Given the description of an element on the screen output the (x, y) to click on. 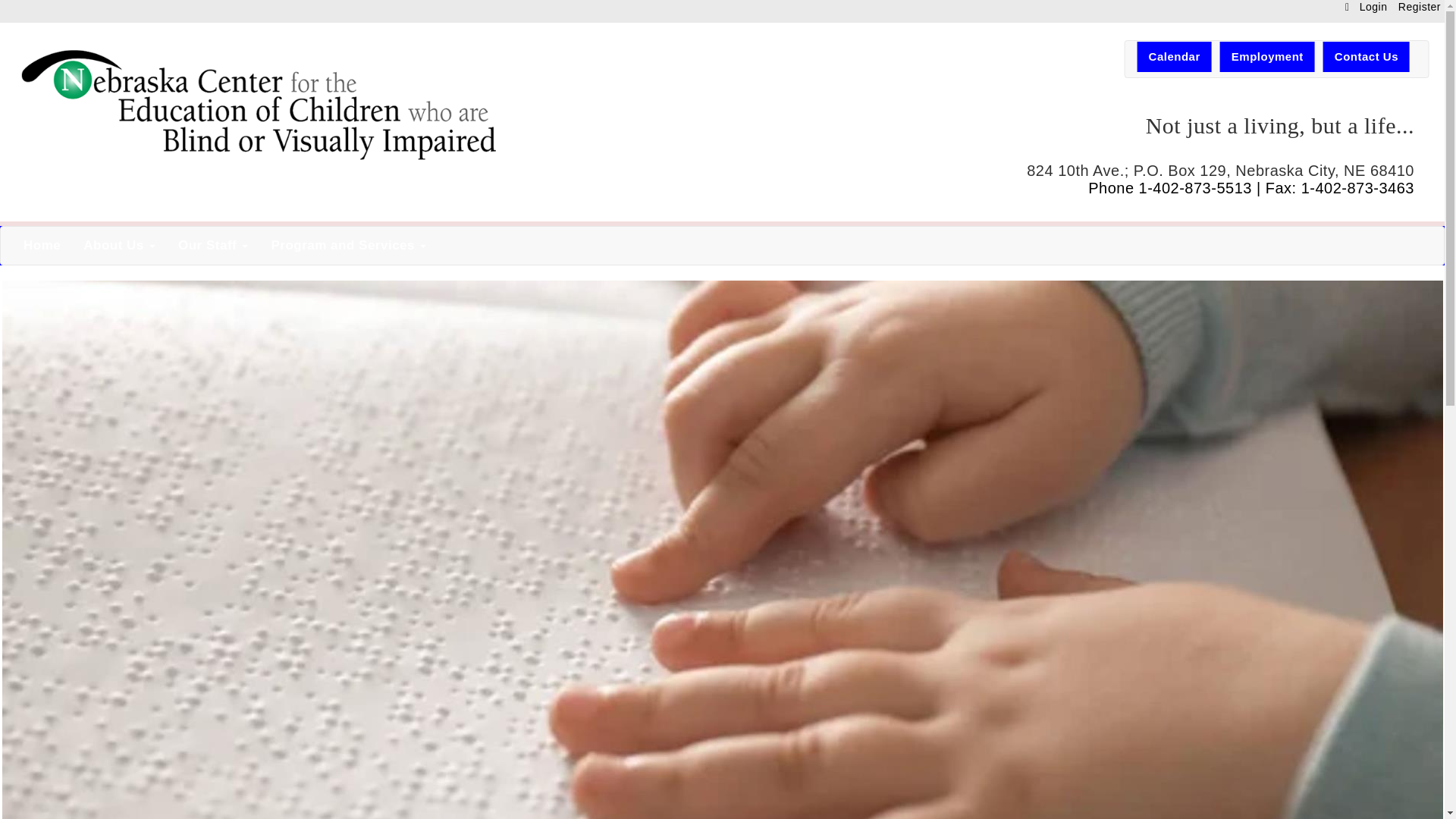
About Us (119, 245)
Home (260, 106)
Calendar (1174, 56)
Employment (1267, 56)
Our Staff (213, 245)
Program and Services (1276, 56)
Home (348, 245)
Contact Us (224, 245)
